Given the description of an element on the screen output the (x, y) to click on. 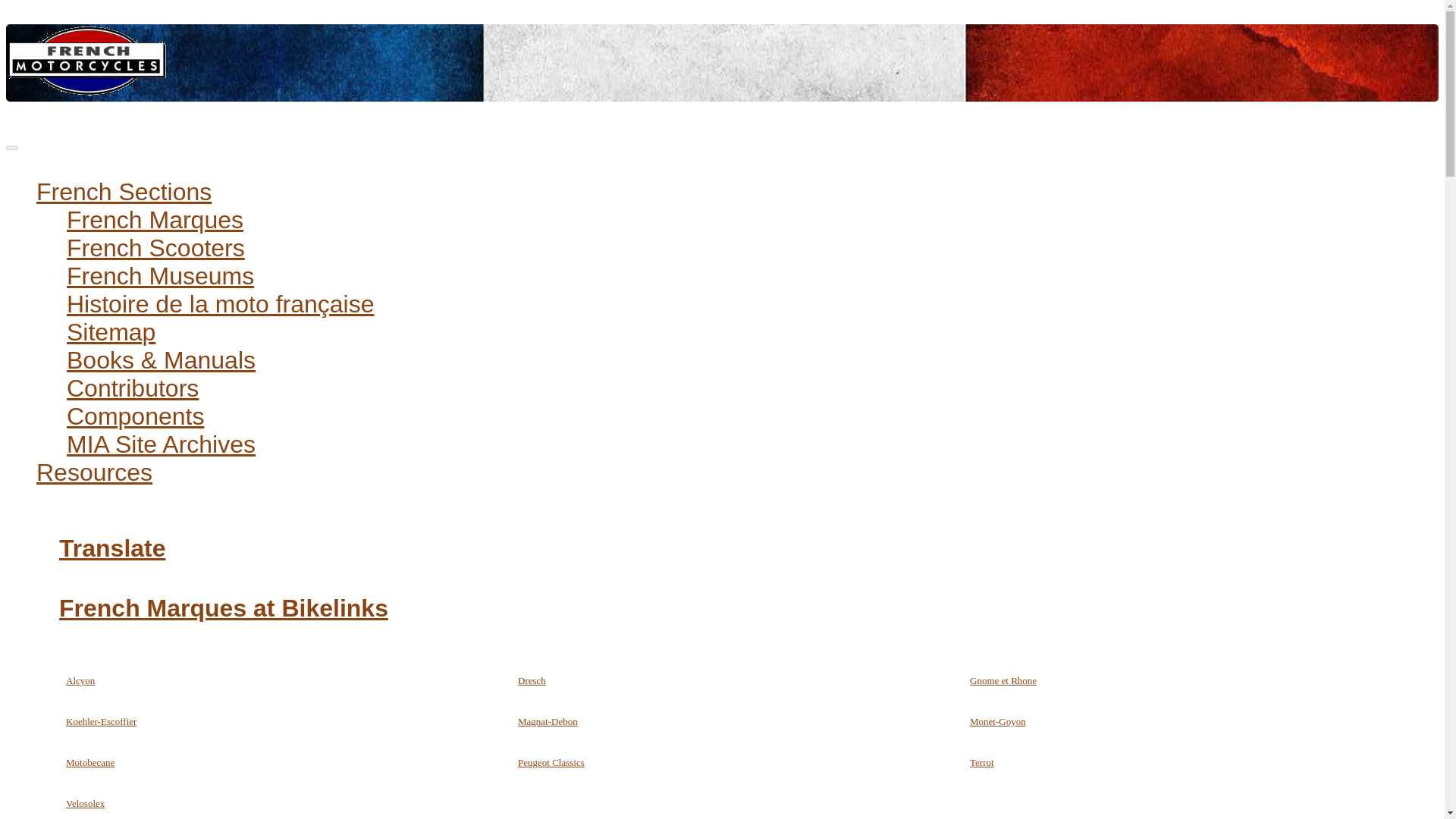
MIA Site Archives (161, 443)
French Motorcycles (86, 59)
Contributors (132, 388)
Monet-Goyon (997, 721)
Sitemap (110, 331)
Motobecane (90, 762)
Translate (112, 547)
Velosolex (84, 803)
Contributors (132, 388)
Magnat-Debon (548, 721)
French Sections (123, 191)
Alcyon (79, 680)
Gnome et Rhone (1002, 680)
French Museums (159, 275)
French Scooters (155, 247)
